Given the description of an element on the screen output the (x, y) to click on. 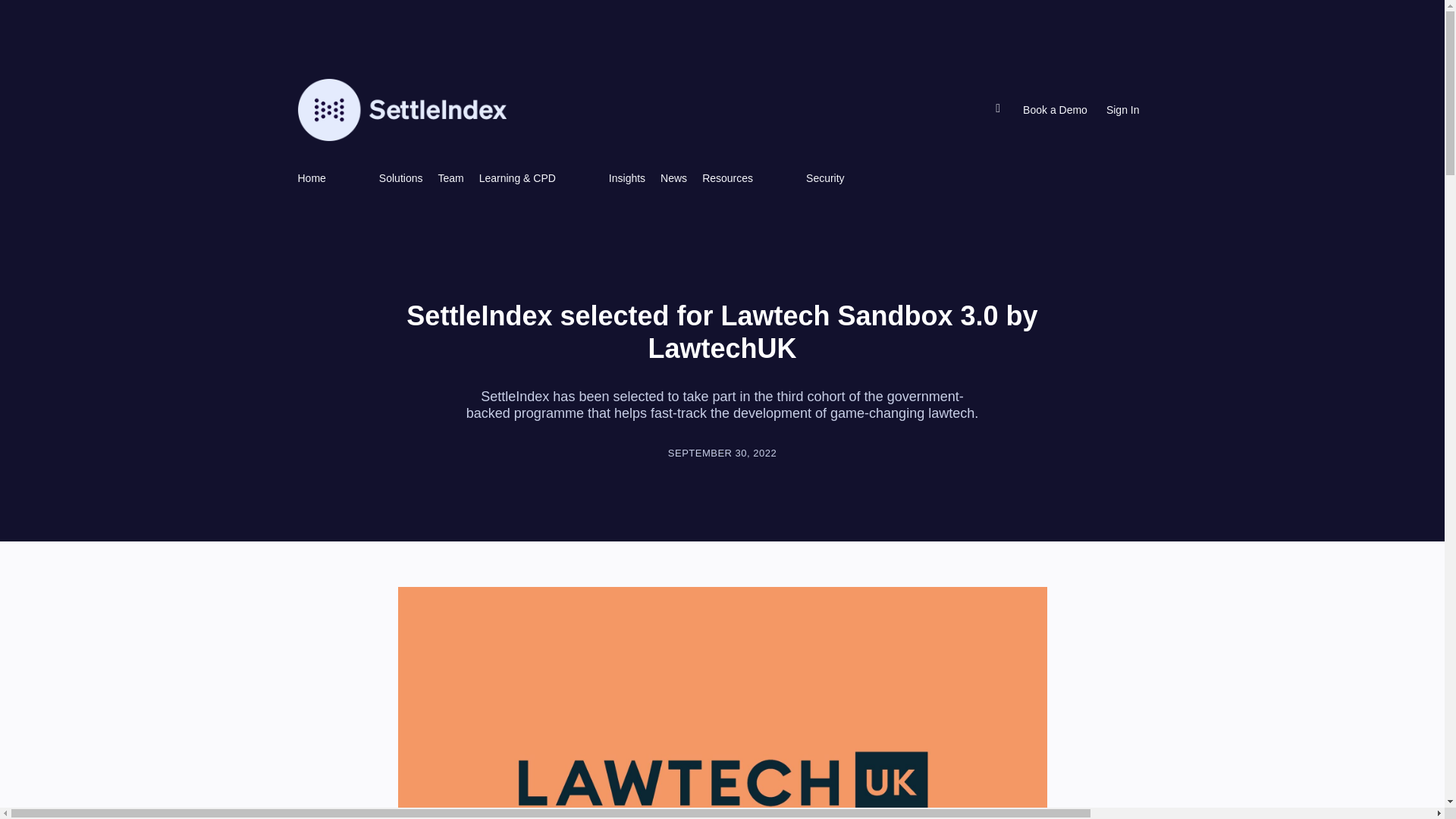
Book a Demo (1055, 109)
Sign In (1123, 109)
Home (310, 178)
News (674, 178)
Insights (626, 178)
Security (825, 178)
Solutions (400, 178)
Team (450, 178)
Resources (726, 178)
